Given the description of an element on the screen output the (x, y) to click on. 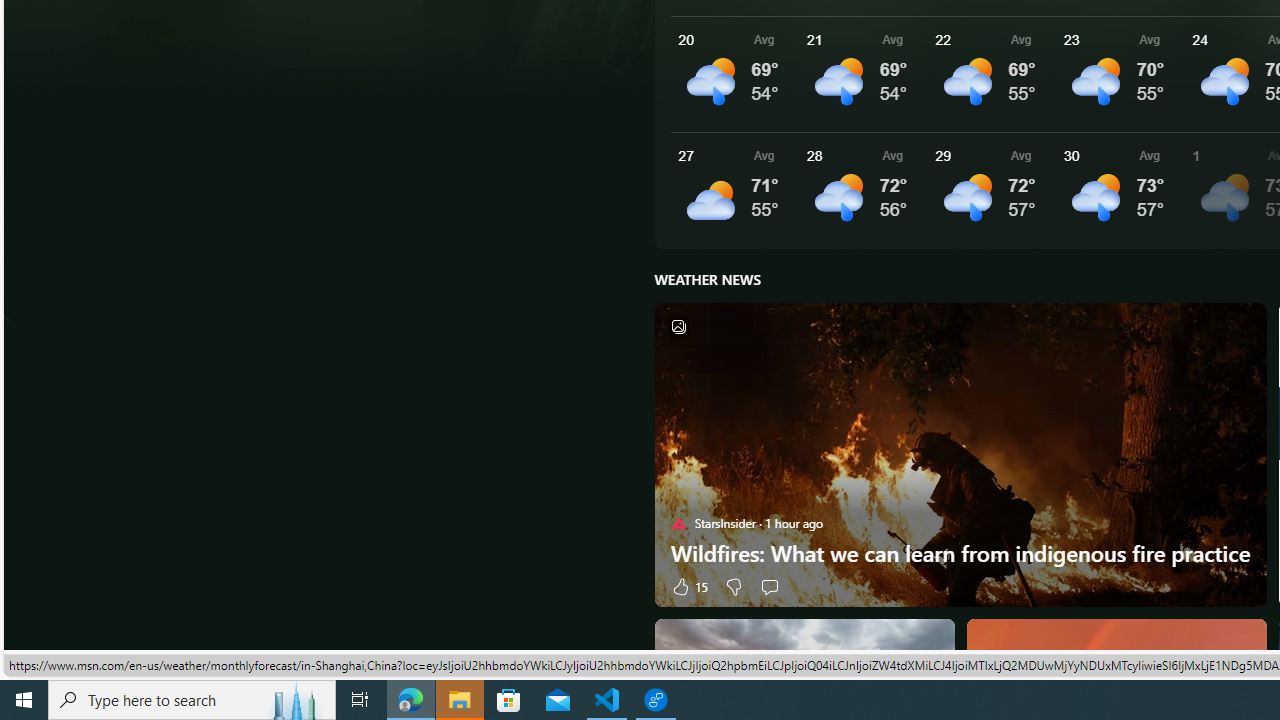
See more (1242, 642)
See More Details (1120, 190)
StarsInsider (678, 522)
